Given the description of an element on the screen output the (x, y) to click on. 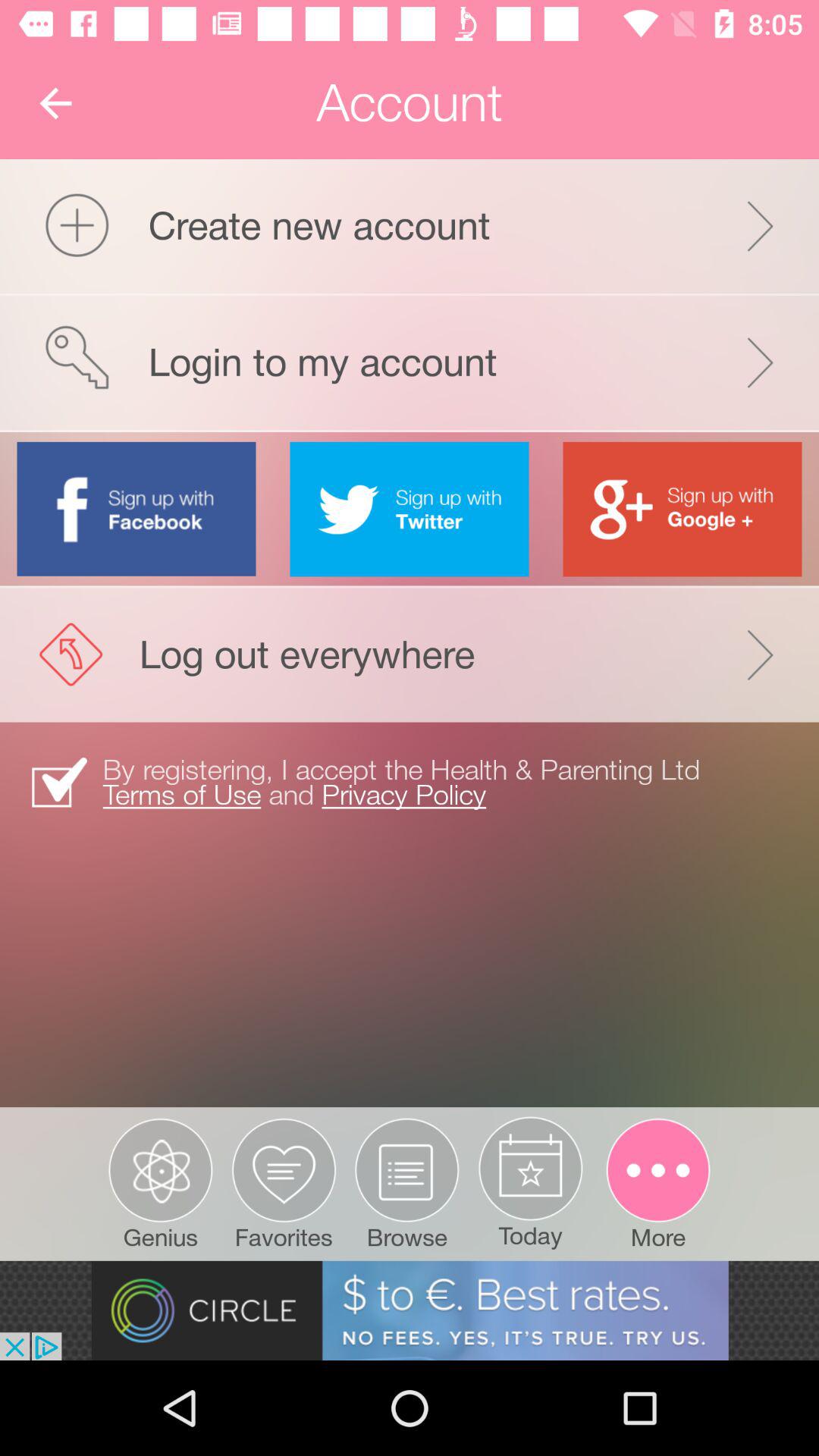
open advertisement (409, 1310)
